Given the description of an element on the screen output the (x, y) to click on. 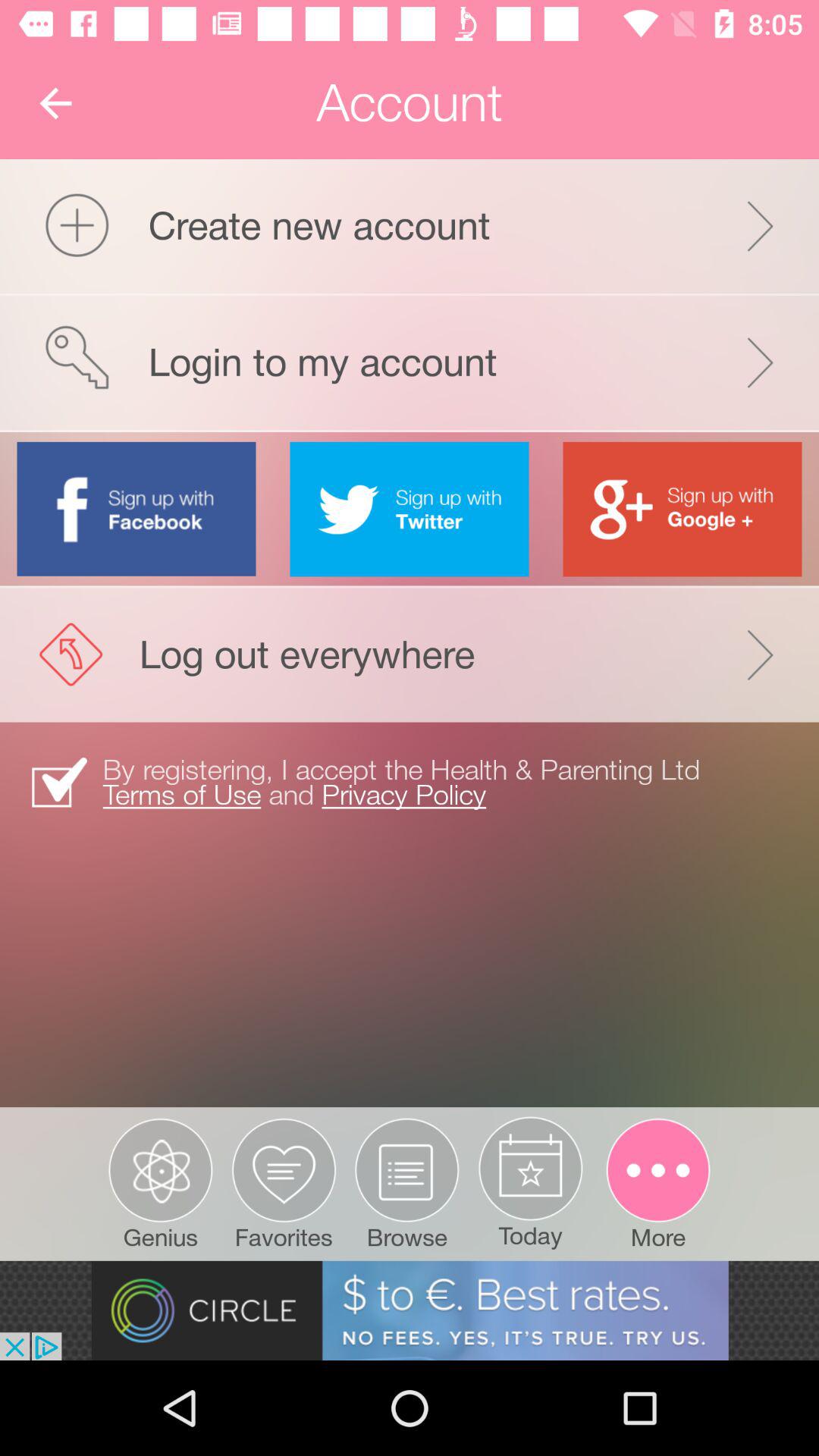
open advertisement (409, 1310)
